Given the description of an element on the screen output the (x, y) to click on. 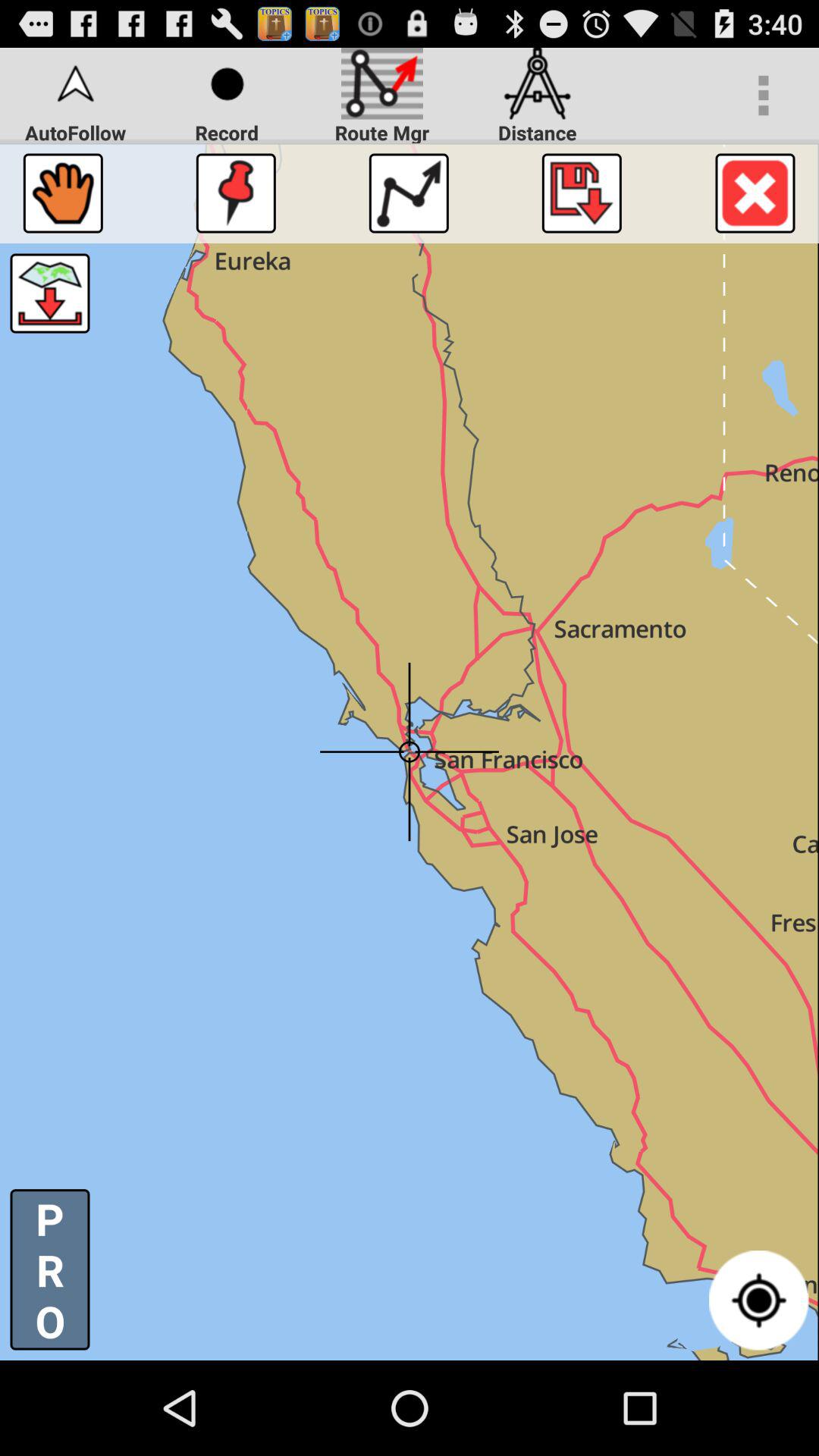
press p
r
o item (49, 1269)
